Given the description of an element on the screen output the (x, y) to click on. 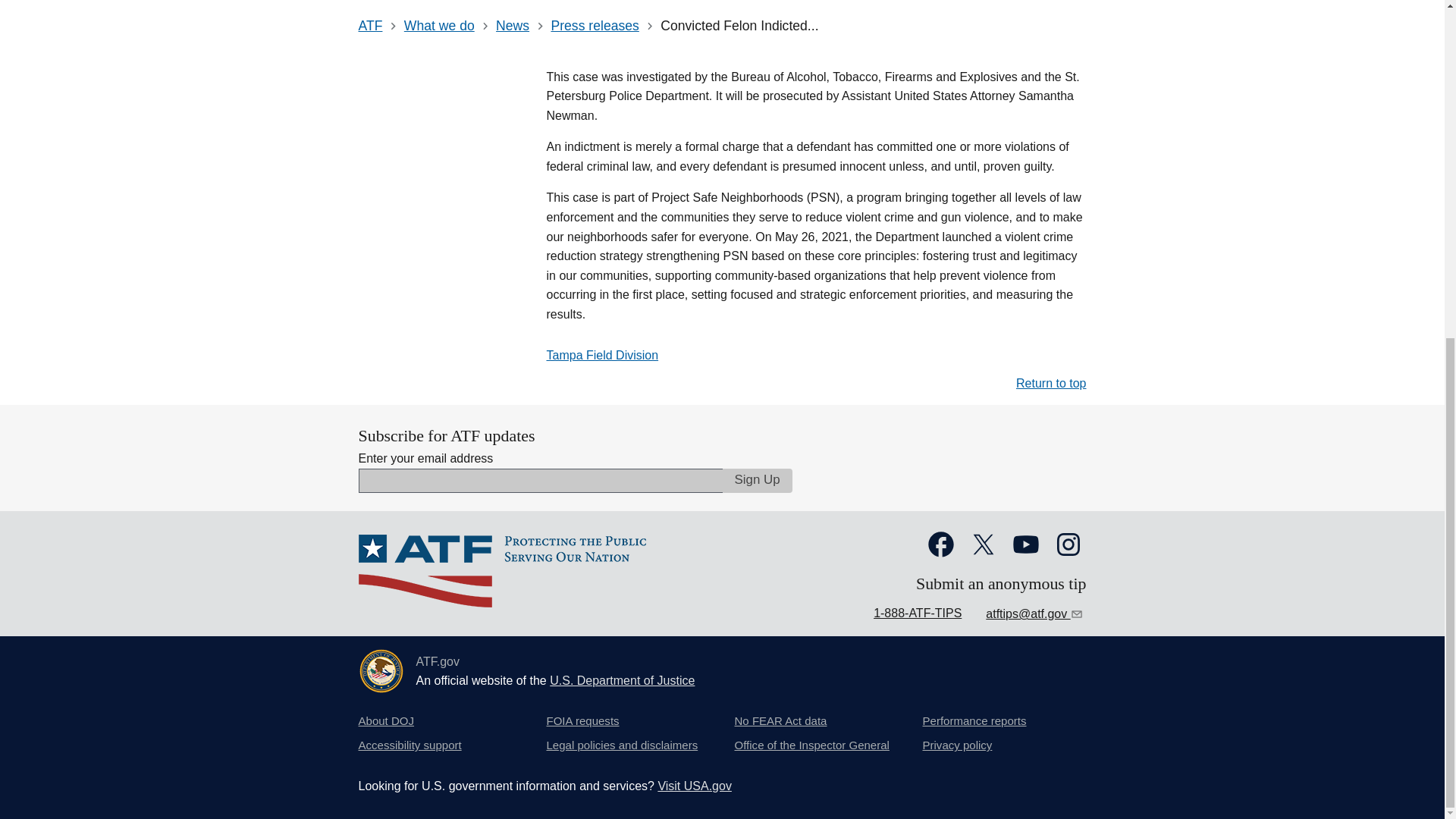
Visit USA.gov (695, 786)
Return to top (1051, 382)
Sign Up (757, 480)
No FEAR Act data (780, 720)
About DOJ (385, 720)
1-888-ATF-TIPS (916, 612)
Legal policies and disclaimers (621, 745)
U.S. Department of Justice (622, 680)
Office of the Inspector General (810, 745)
Tampa Field Division (602, 354)
FOIA requests (582, 720)
Accessibility support (409, 745)
Performance reports (973, 720)
Privacy policy (956, 745)
